Given the description of an element on the screen output the (x, y) to click on. 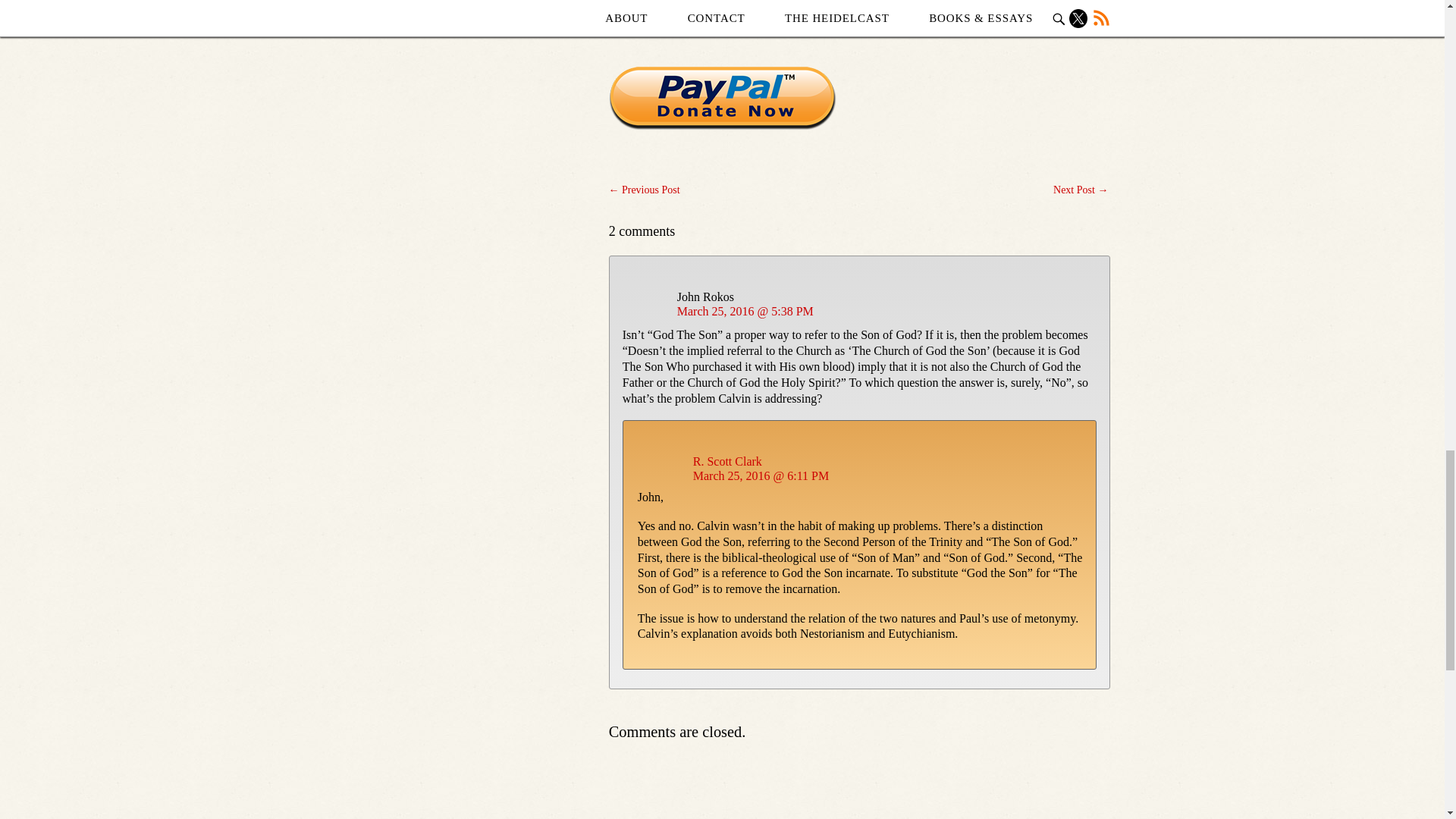
Christology (755, 2)
Support the Heidelblog! (721, 98)
HeidelQuotes (815, 2)
R. Scott Clark (727, 461)
Calvin Studies (693, 2)
